Given the description of an element on the screen output the (x, y) to click on. 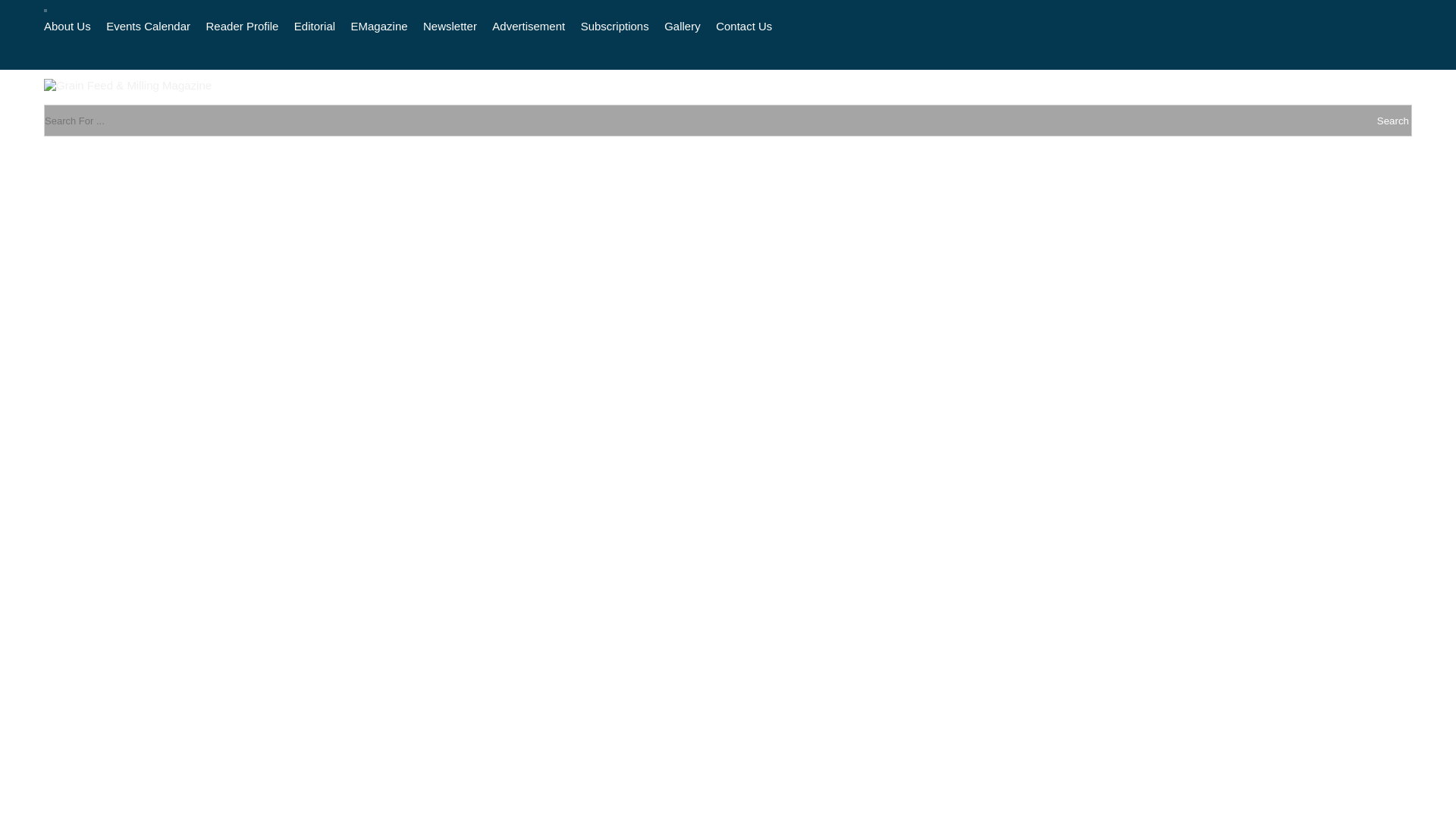
About Us (66, 25)
Contact Us (743, 25)
Gallery (681, 25)
Newsletter (450, 25)
Editorial (314, 25)
Advertisement (528, 25)
Reader Profile (242, 25)
Subscriptions (614, 25)
Search (1274, 120)
Events Calendar (148, 25)
